Given the description of an element on the screen output the (x, y) to click on. 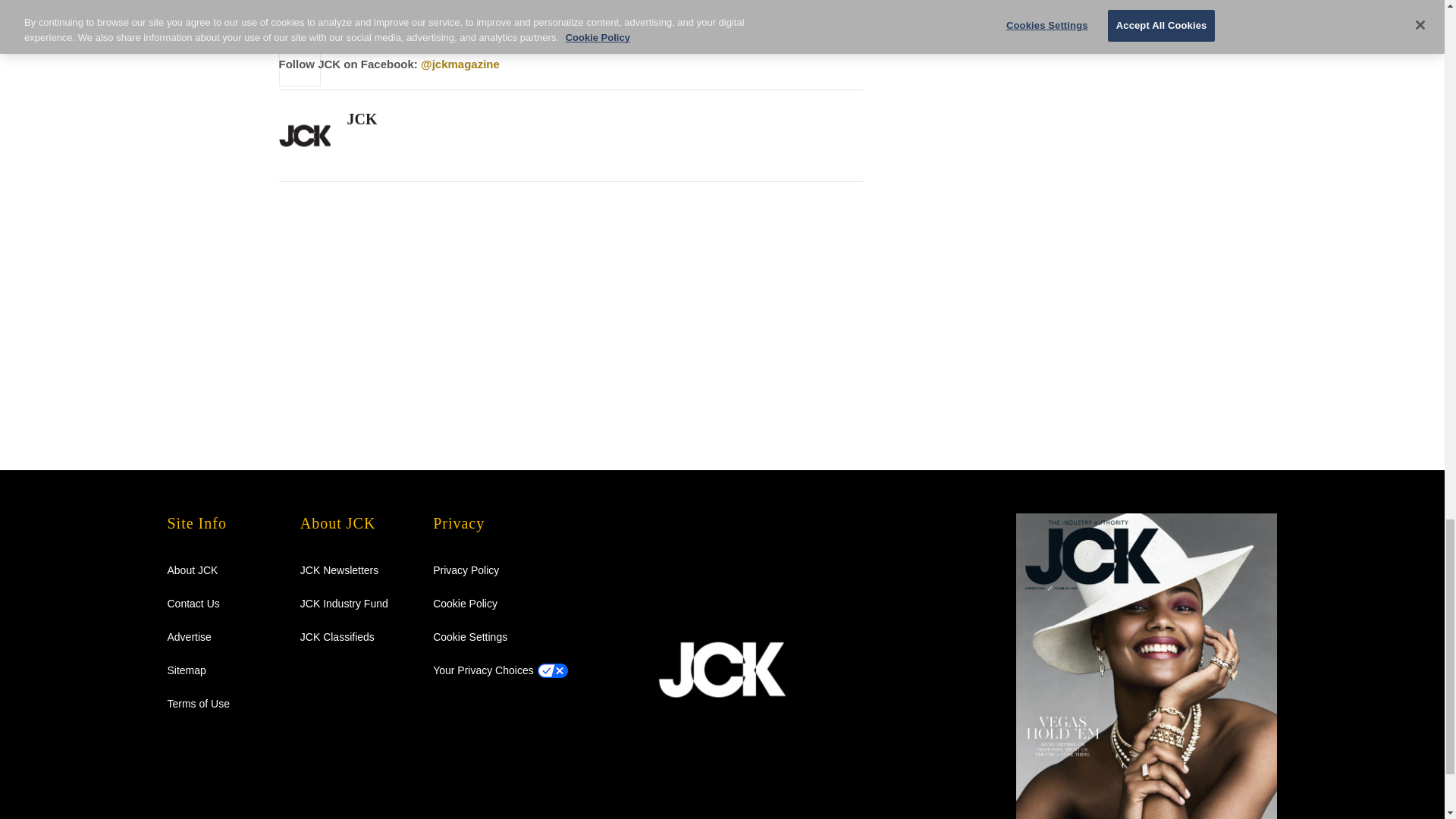
privacy-choices (483, 670)
3rd party ad content (1037, 75)
